Given the description of an element on the screen output the (x, y) to click on. 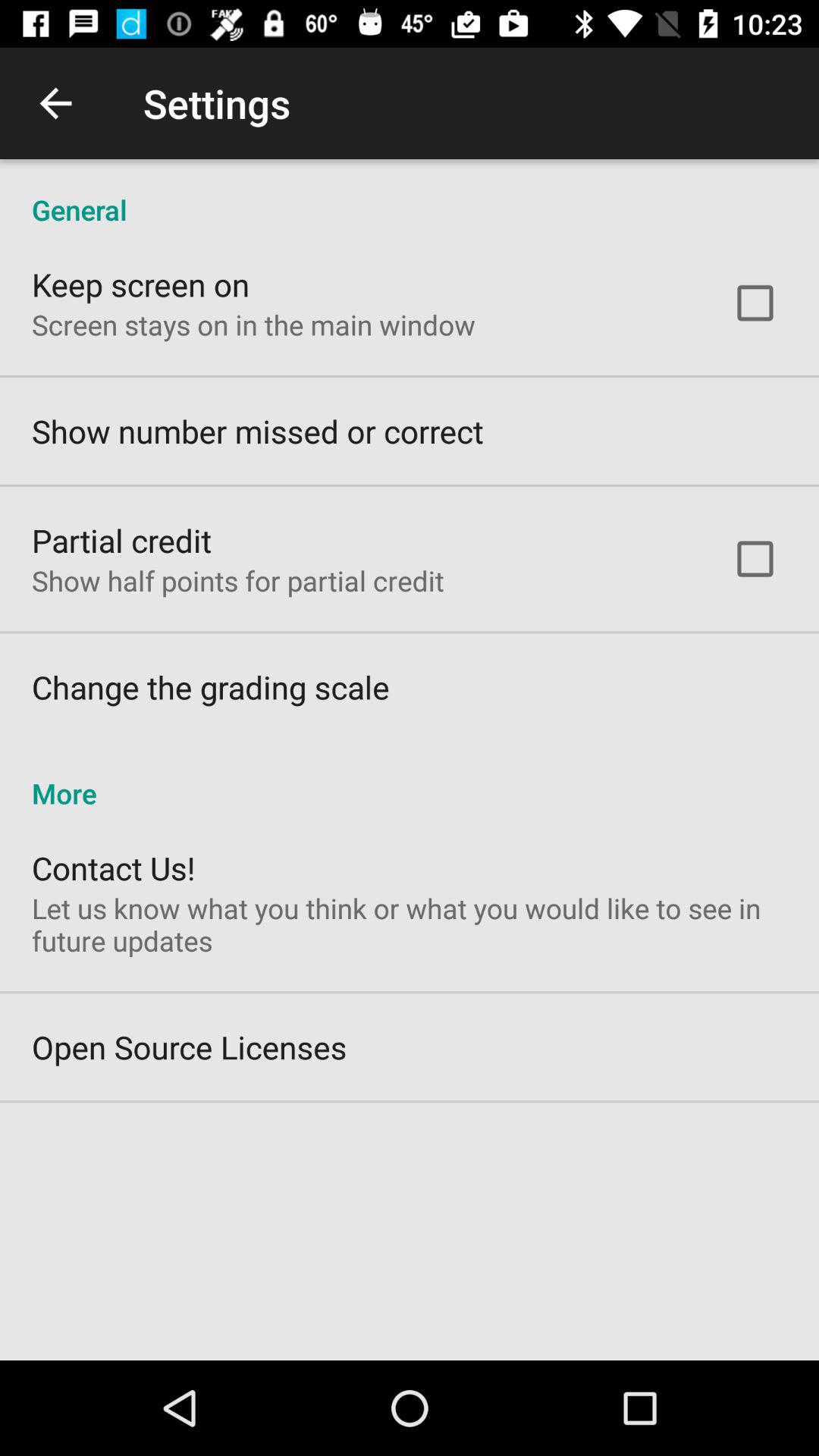
tap the icon above the keep screen on icon (409, 193)
